Given the description of an element on the screen output the (x, y) to click on. 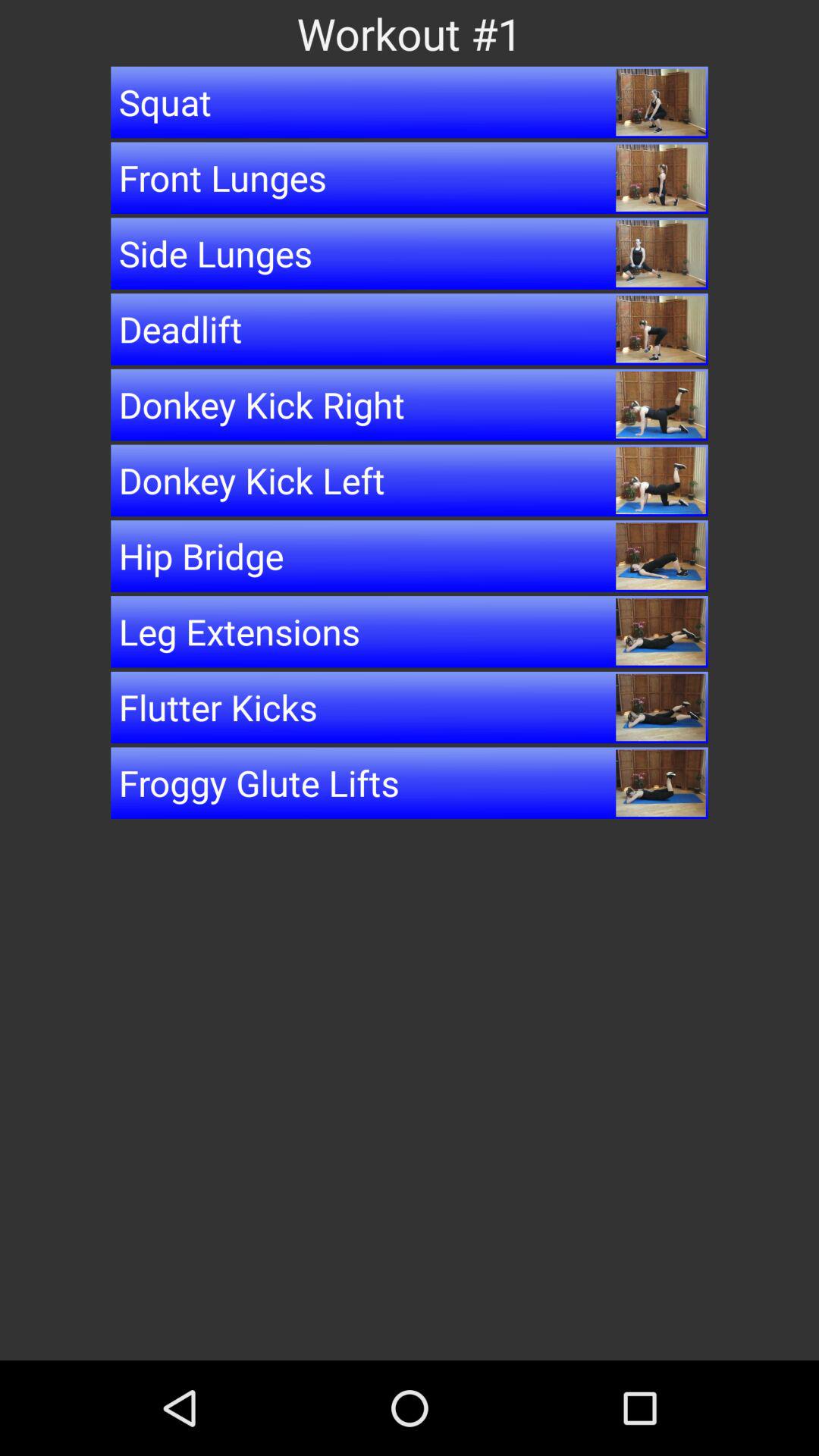
launch the froggy glute lifts button (409, 783)
